Given the description of an element on the screen output the (x, y) to click on. 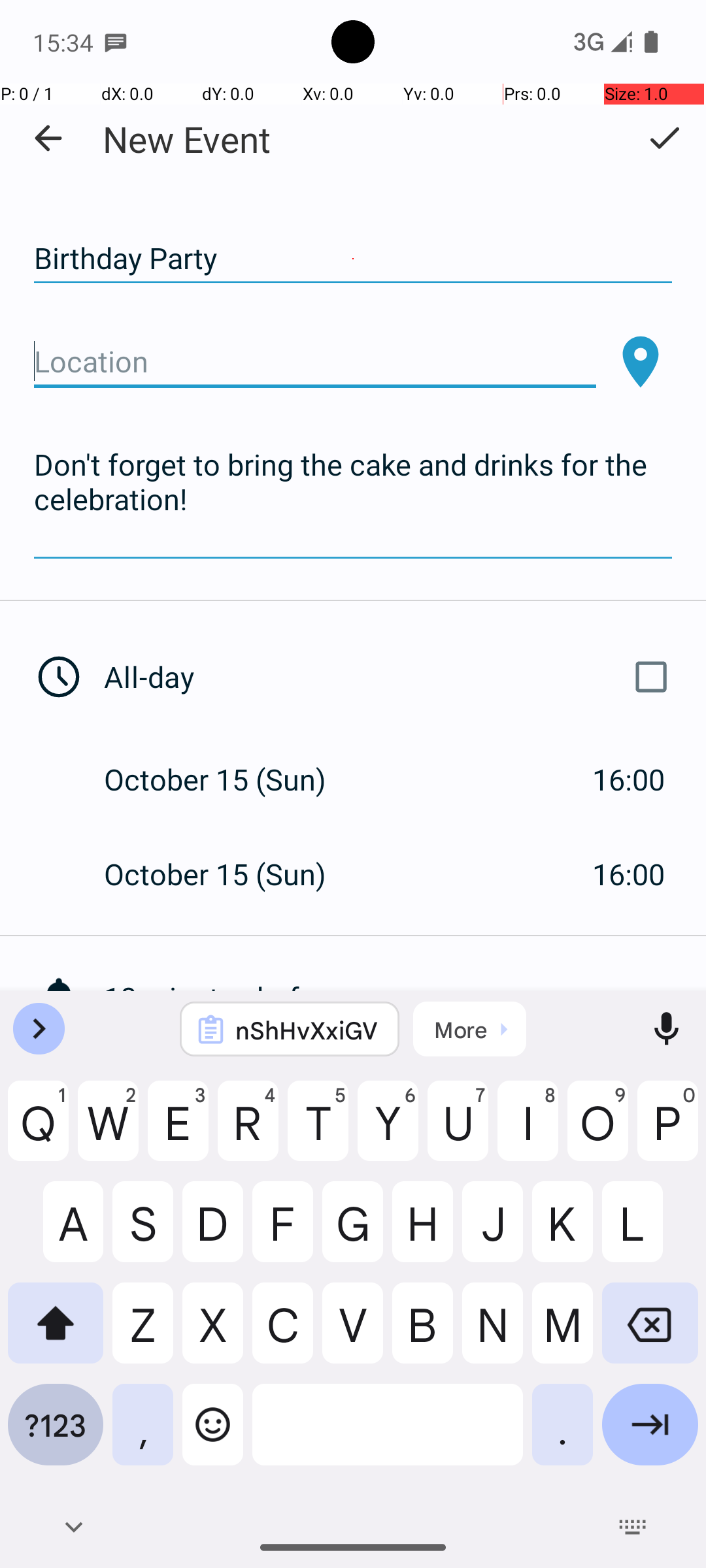
Birthday Party Element type: android.widget.EditText (352, 258)
Don't forget to bring the cake and drinks for the celebration!
 Element type: android.widget.EditText (352, 499)
10 minutes before Element type: android.widget.TextView (404, 996)
nShHvXxiGV Element type: android.widget.TextView (306, 1029)
